Given the description of an element on the screen output the (x, y) to click on. 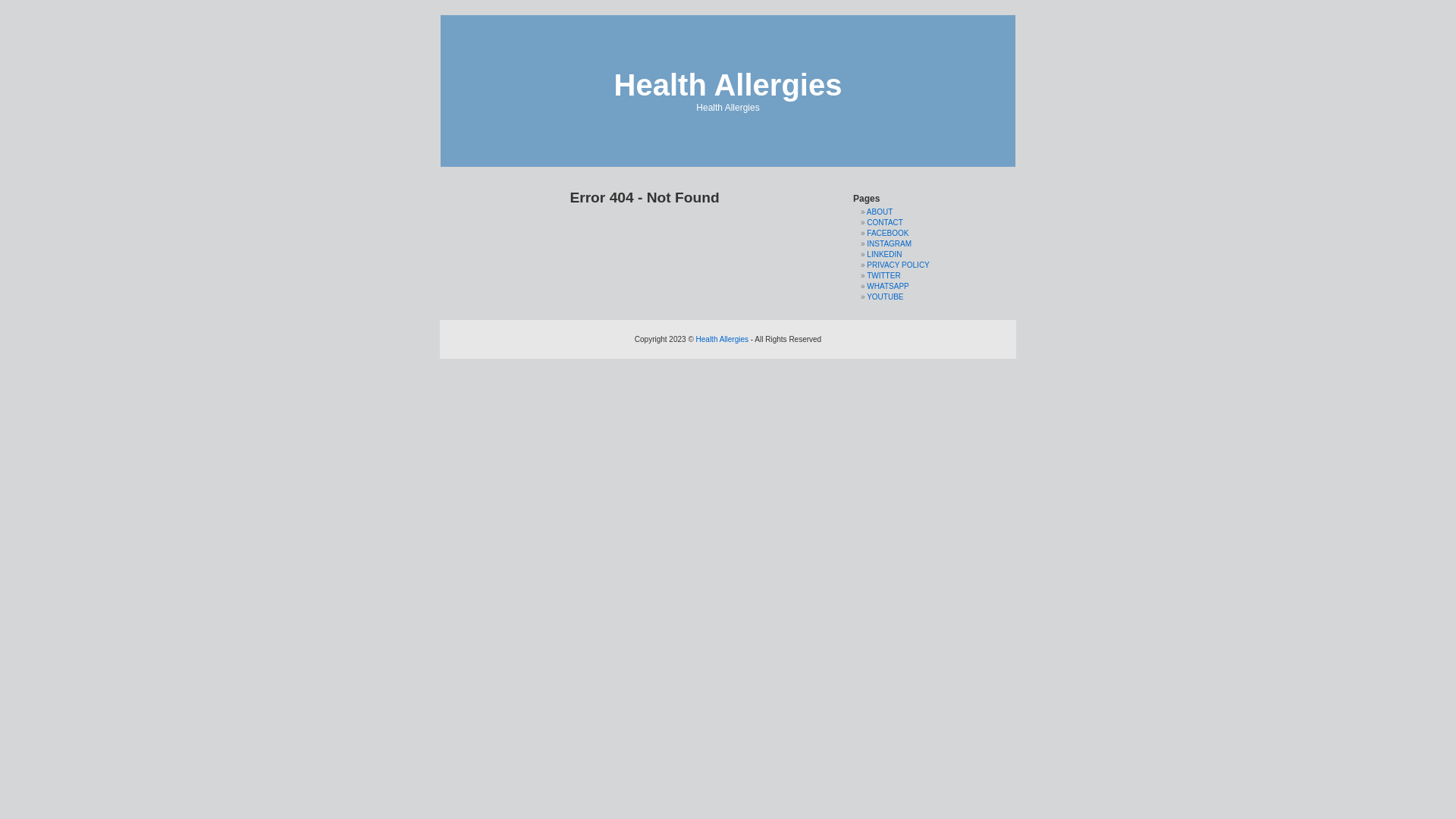
ABOUT Element type: text (879, 211)
INSTAGRAM Element type: text (888, 243)
LINKEDIN Element type: text (883, 254)
WHATSAPP Element type: text (887, 286)
PRIVACY POLICY Element type: text (897, 264)
Health Allergies Element type: text (722, 339)
FACEBOOK Element type: text (887, 233)
TWITTER Element type: text (883, 275)
CONTACT Element type: text (884, 222)
Health Allergies Element type: text (728, 84)
YOUTUBE Element type: text (884, 296)
